Given the description of an element on the screen output the (x, y) to click on. 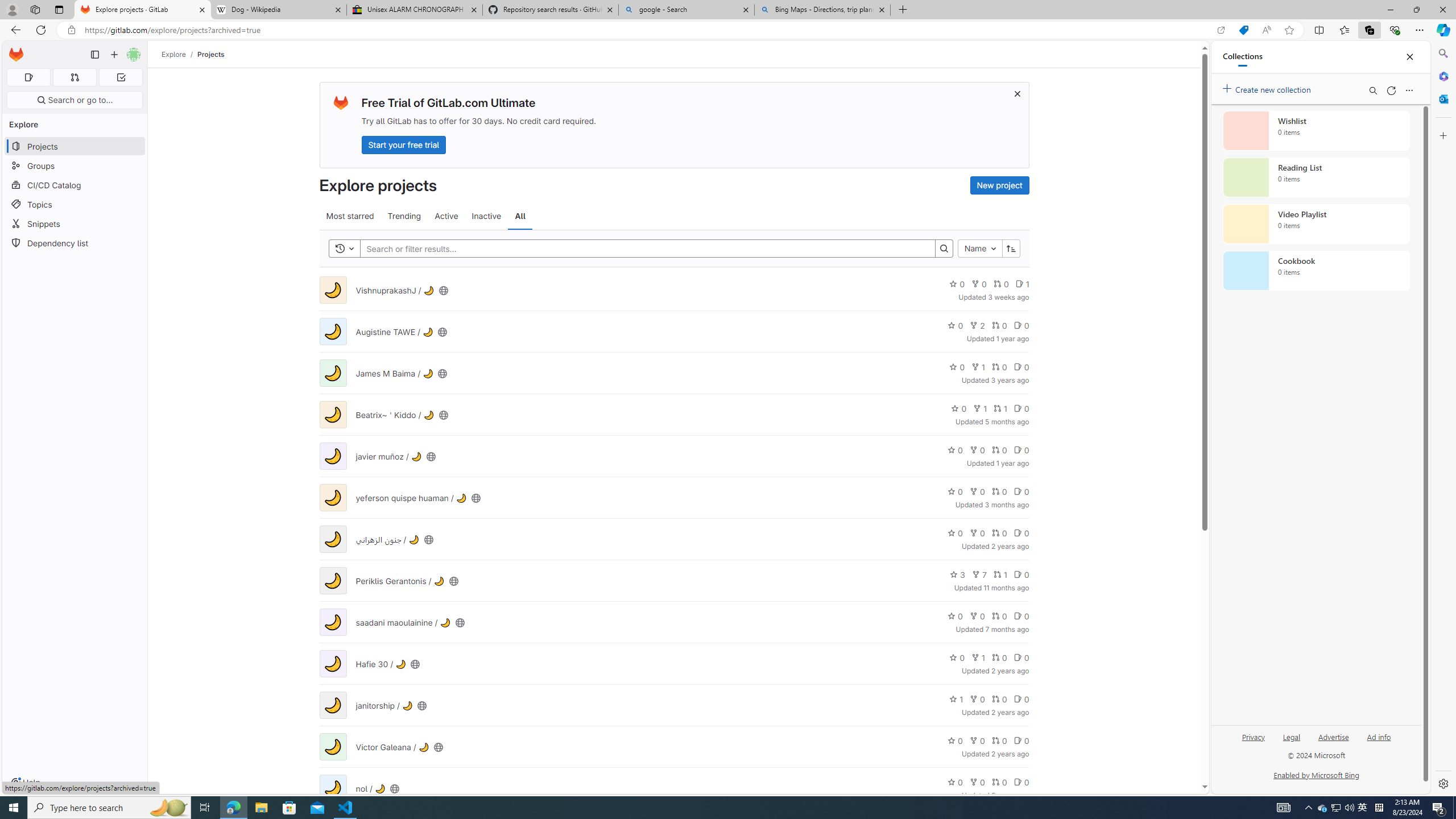
Wishlist collection, 0 items (1316, 130)
Assigned issues 0 (28, 76)
Topics (74, 203)
Toggle history (344, 248)
Explore/ (179, 53)
Most starred (349, 216)
Projects (211, 53)
